Given the description of an element on the screen output the (x, y) to click on. 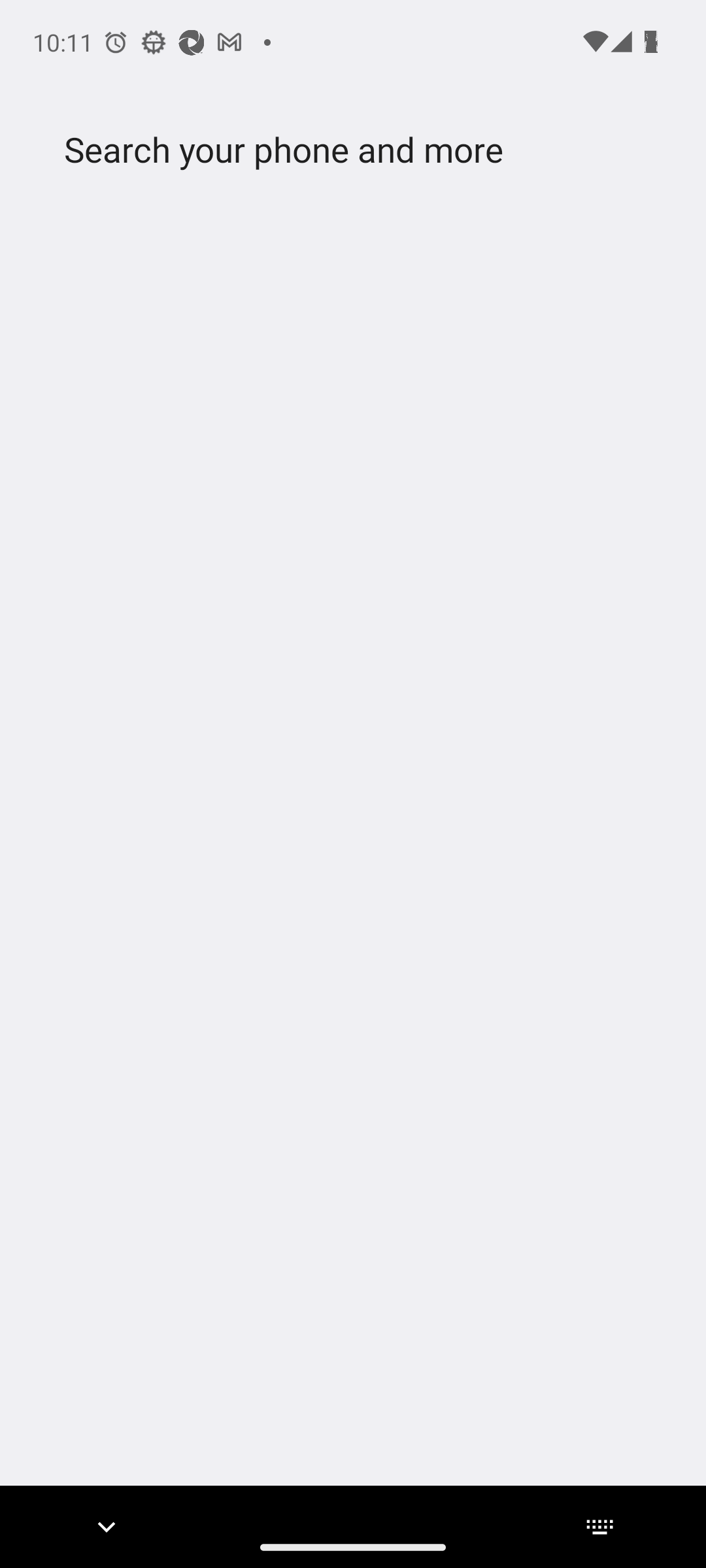
Search your phone and more (321, 149)
